Given the description of an element on the screen output the (x, y) to click on. 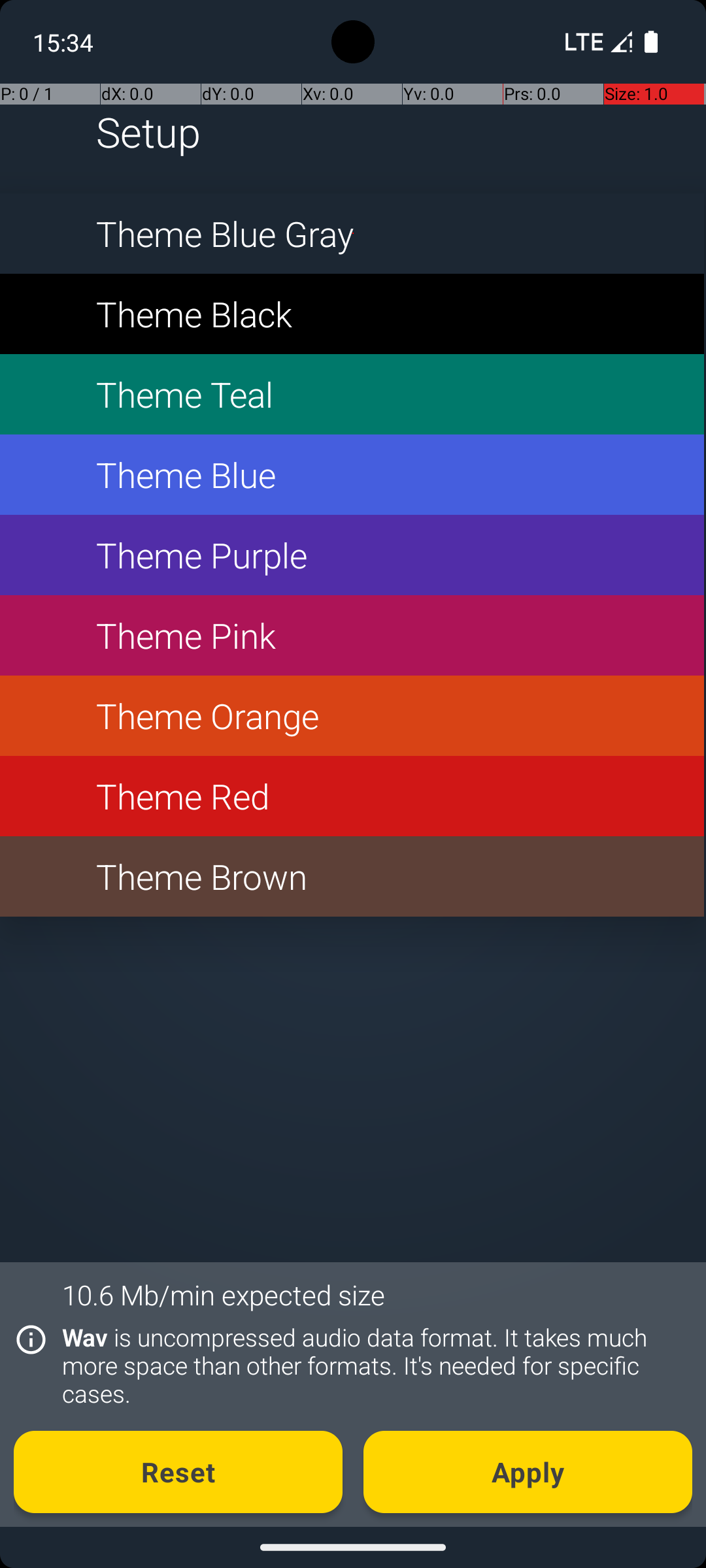
Theme Black Element type: android.widget.TextView (352, 313)
Theme Teal Element type: android.widget.TextView (352, 394)
Theme Blue Element type: android.widget.TextView (352, 474)
Theme Purple Element type: android.widget.TextView (352, 554)
Theme Pink Element type: android.widget.TextView (352, 635)
Theme Orange Element type: android.widget.TextView (352, 715)
Theme Red Element type: android.widget.TextView (352, 795)
Theme Brown Element type: android.widget.TextView (352, 876)
Phone one bar. Element type: android.widget.FrameLayout (595, 41)
